Given the description of an element on the screen output the (x, y) to click on. 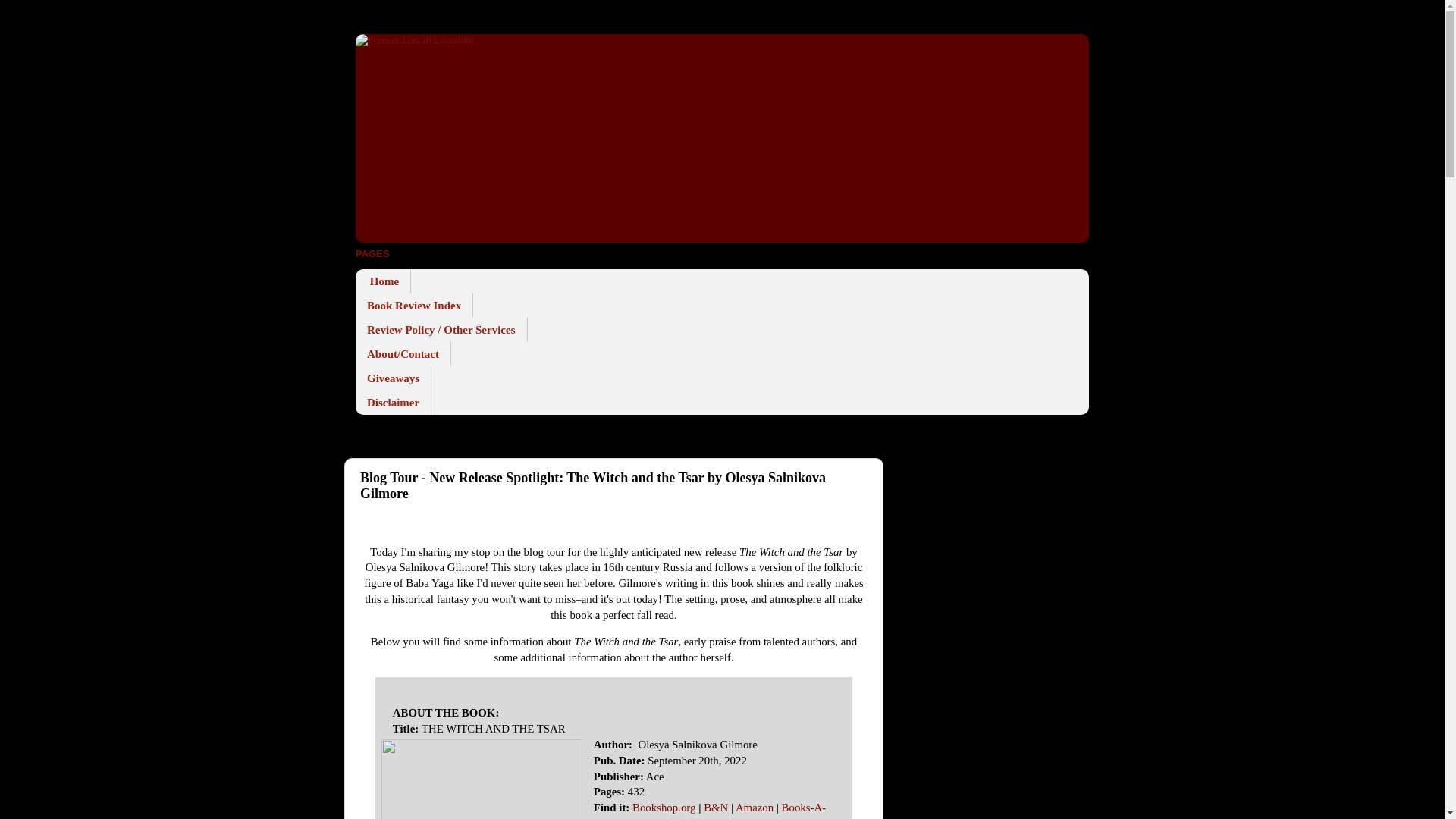
Books-A-Million (709, 810)
Amazon (754, 807)
Giveaways (392, 378)
Book Review Index (414, 305)
Bookshop.org (663, 807)
Home (382, 281)
Disclaimer (392, 402)
